Given the description of an element on the screen output the (x, y) to click on. 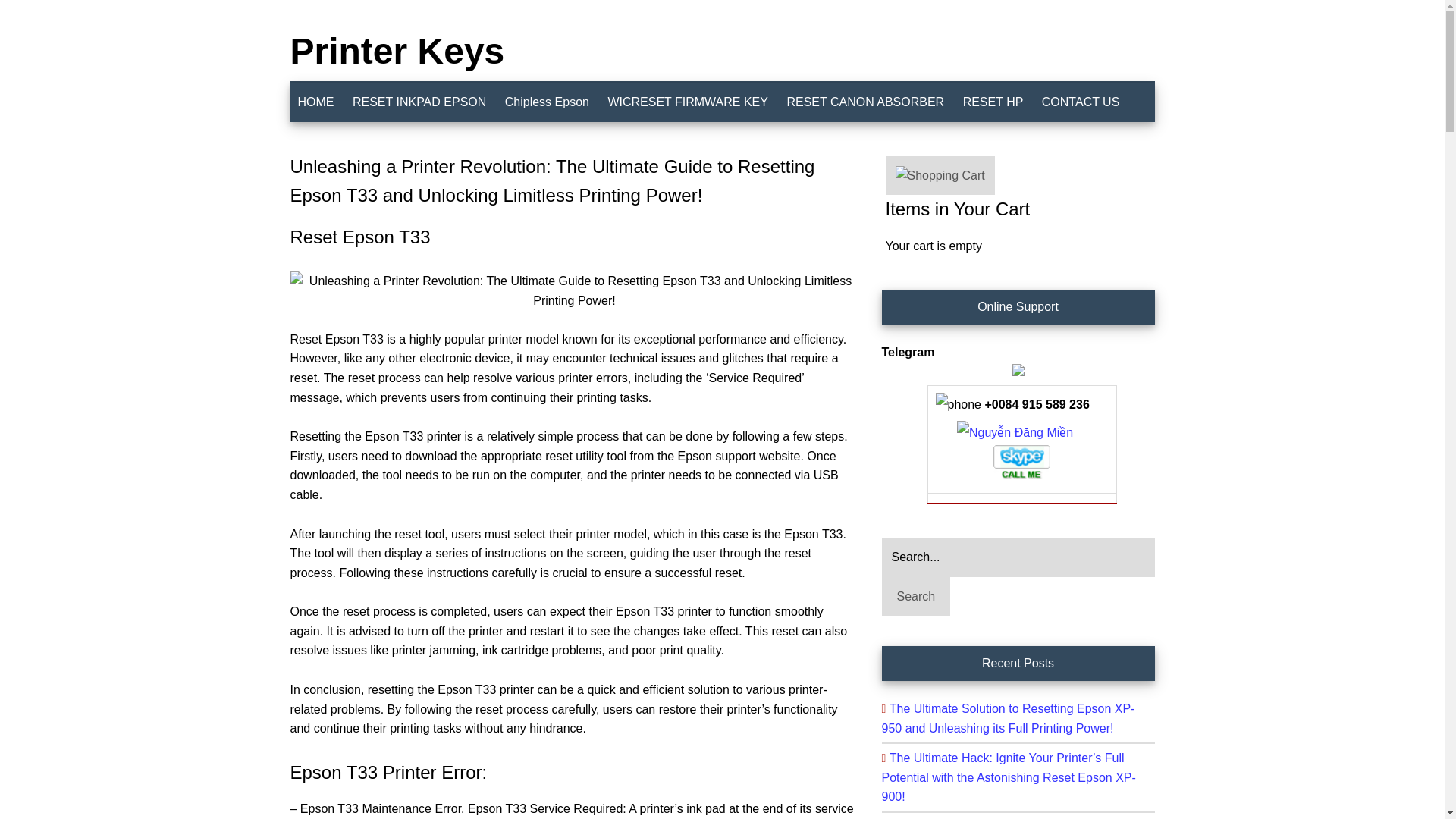
RESET INKPAD EPSON (419, 102)
Printer Keys (396, 51)
Search (915, 596)
WICRESET FIRMWARE KEY (687, 102)
RESET HP (992, 102)
CONTACT US (1079, 102)
Search (915, 596)
RESET CANON ABSORBER (865, 102)
Shopping Cart (939, 175)
HOME (314, 102)
Chipless Epson (546, 102)
Search (915, 596)
